Given the description of an element on the screen output the (x, y) to click on. 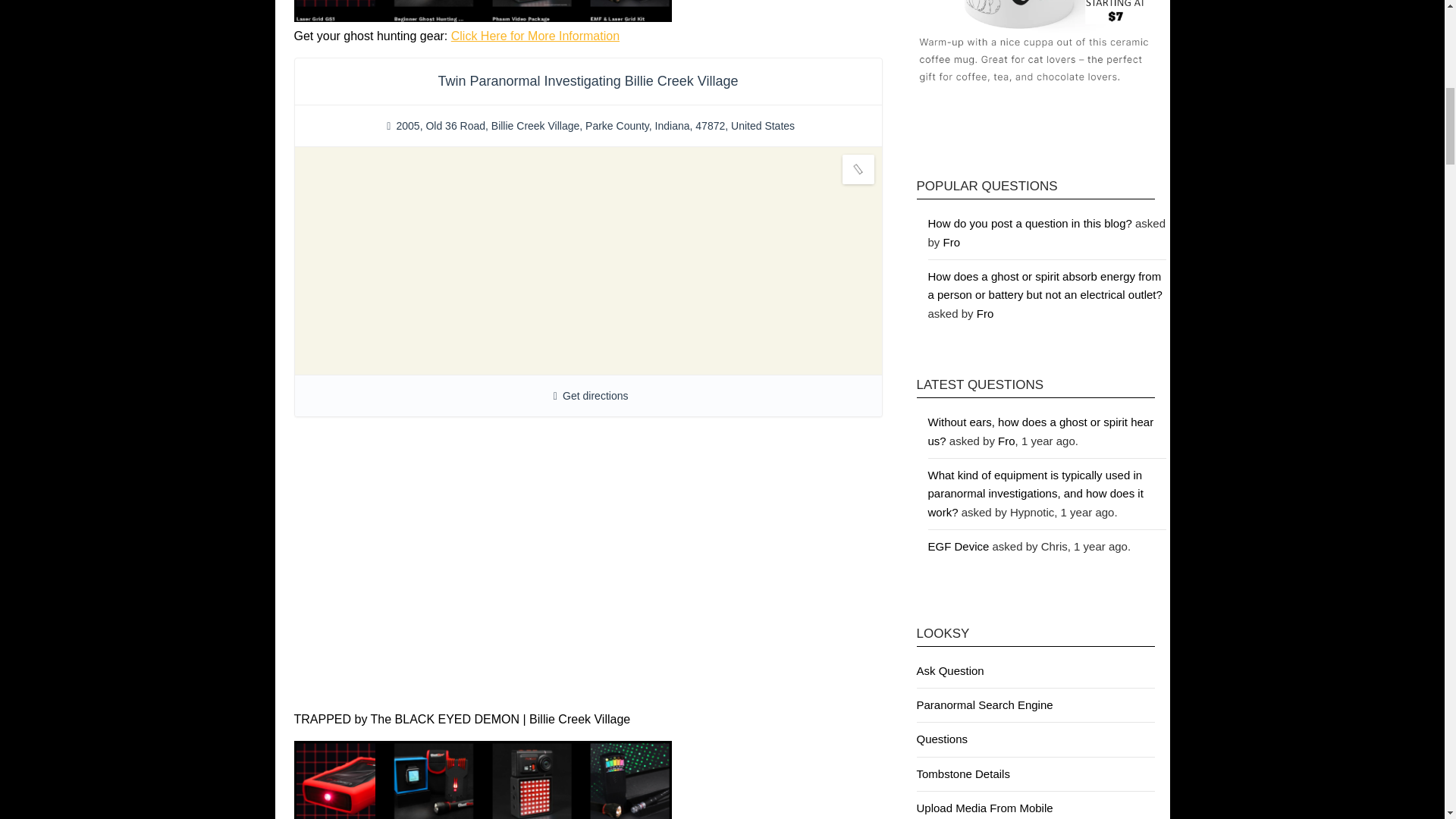
Twin Paranormal Investigating Billie Creek Village (588, 80)
Get directions (594, 395)
Twin Paranormal Investigating Billie Creek Village (588, 80)
Click Here for More Information (535, 35)
Fro (951, 241)
GhostShop.com (535, 35)
How do you post a question in this blog? (1030, 223)
